Given the description of an element on the screen output the (x, y) to click on. 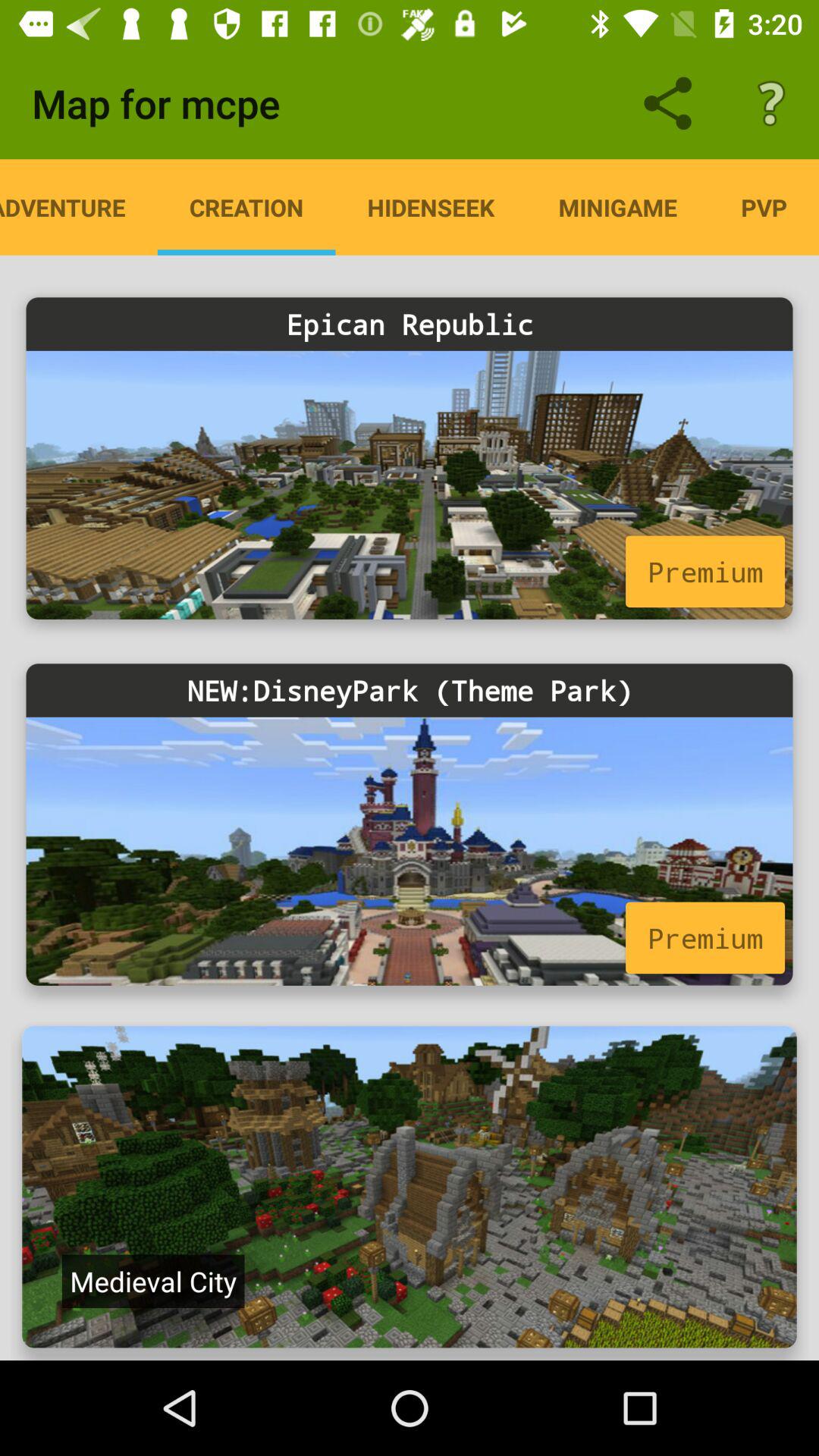
advertisement (409, 851)
